Given the description of an element on the screen output the (x, y) to click on. 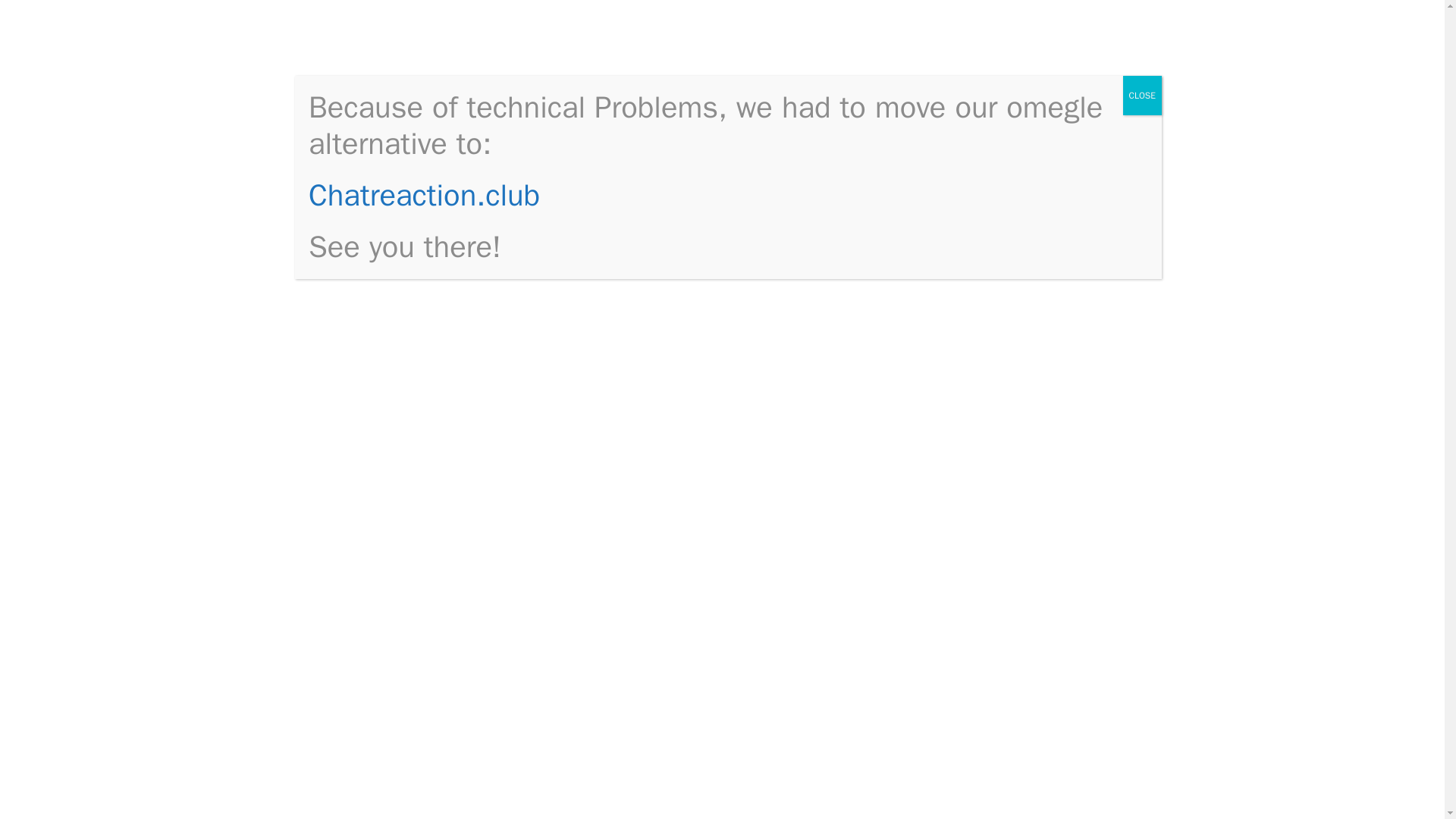
Free pic girls (996, 330)
17.05.2010 (364, 213)
Free videos of real sex (1024, 544)
Video chat app random (1026, 521)
Hispanic granny omegle group skype (1028, 228)
CLOSE (1141, 95)
13:26 (364, 213)
Sexist (823, 679)
Dirty talk chat online (1018, 474)
Chat rooms cams (1010, 308)
sites like cam 4 (423, 50)
Chatreaction.club (424, 195)
hunt (853, 295)
Chat with hot women (1020, 284)
